Given the description of an element on the screen output the (x, y) to click on. 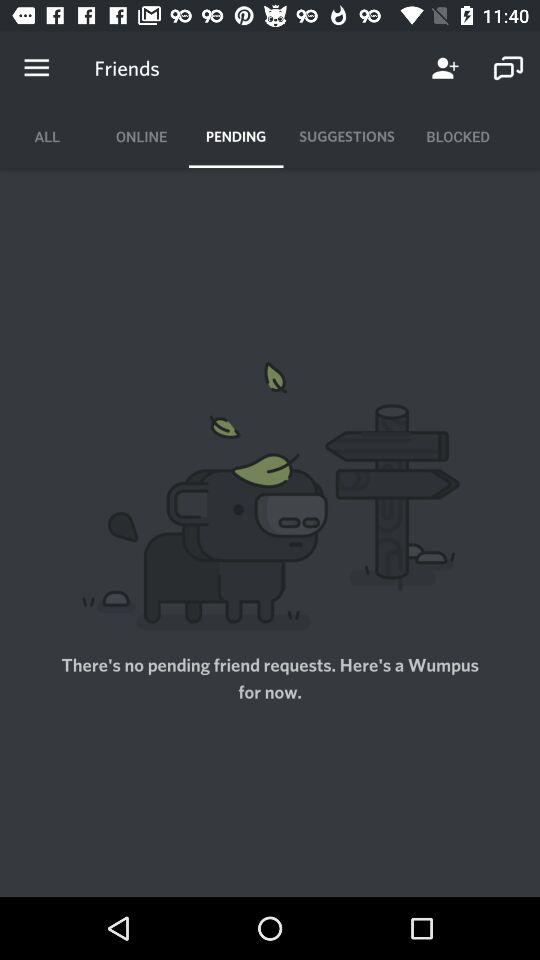
turn off the item to the left of the friends icon (36, 68)
